Given the description of an element on the screen output the (x, y) to click on. 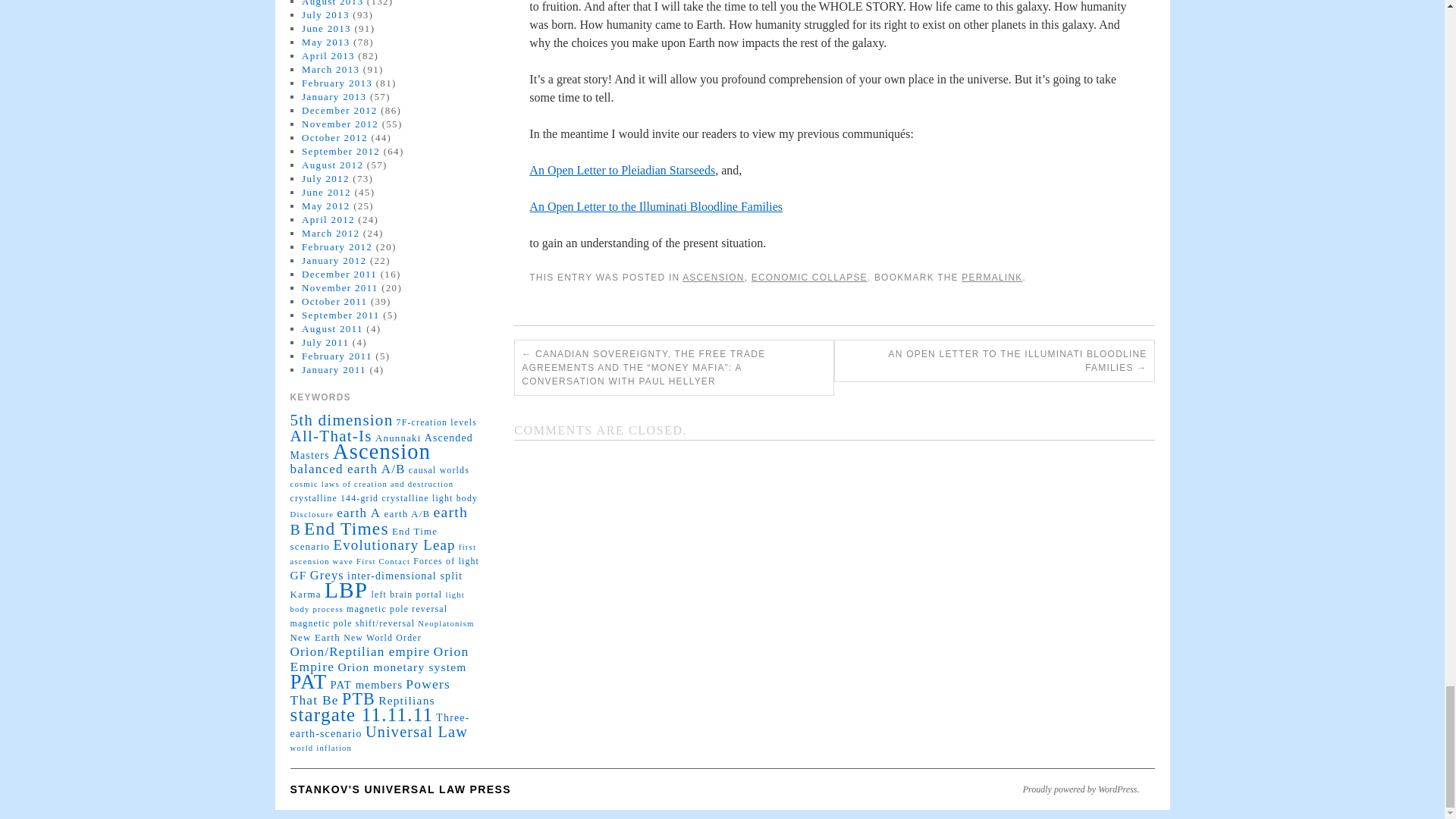
An Open Letter to Pleiadian Starseeds (621, 169)
Stankov's Universal Law Press (400, 788)
ECONOMIC COLLAPSE (809, 276)
Permalink to Adamu on Brexit (991, 276)
PERMALINK (991, 276)
An Open Letter to the Illuminati Bloodline Families (656, 205)
Semantic Personal Publishing Platform (1080, 788)
ASCENSION (713, 276)
